Given the description of an element on the screen output the (x, y) to click on. 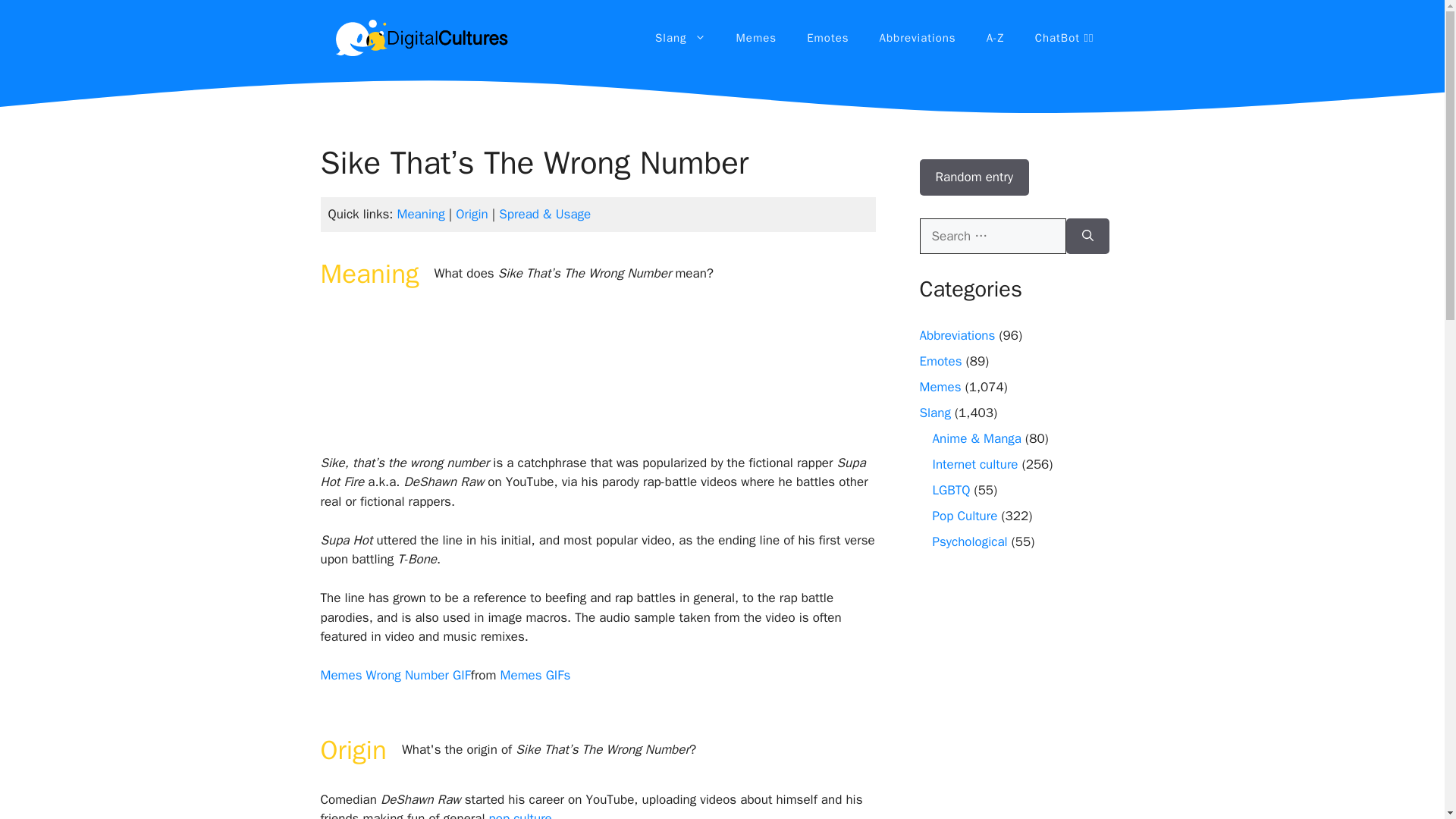
Slang (934, 412)
Memes (756, 37)
Memes (939, 386)
Memes GIFs (535, 675)
Origin (471, 213)
Memes Wrong Number GIF (395, 675)
Random entry (973, 176)
A-Z (995, 37)
Slang (680, 37)
Abbreviations (917, 37)
